Given the description of an element on the screen output the (x, y) to click on. 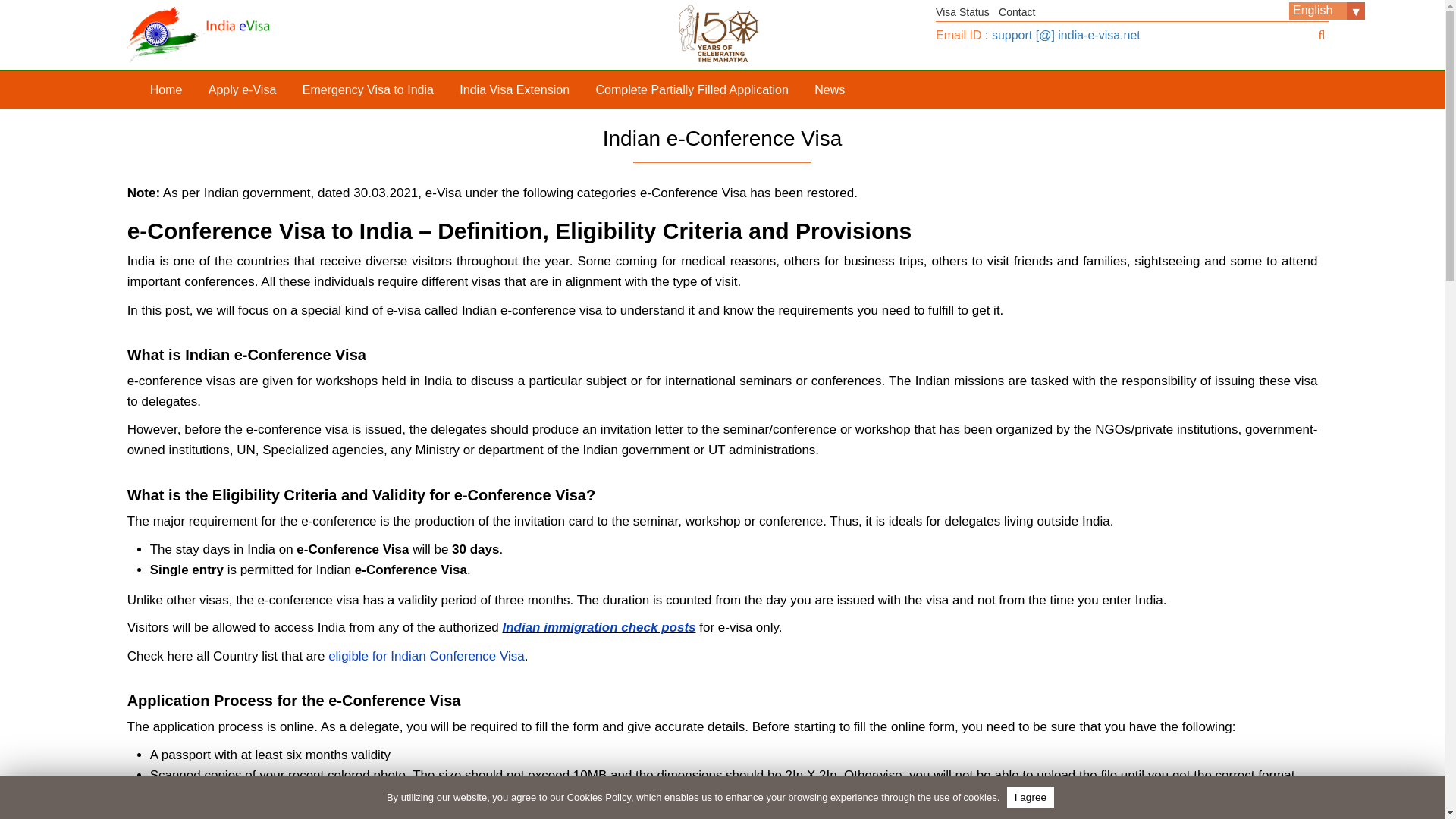
Complete Partially Filled Application (691, 89)
News (829, 89)
Complete Partially Filled Application (691, 89)
Indiaevisas (648, 33)
Contact (1016, 11)
News (829, 89)
Home (165, 89)
Home (165, 89)
Emergency Visa to India (368, 89)
Indiaevisas (246, 33)
